Given the description of an element on the screen output the (x, y) to click on. 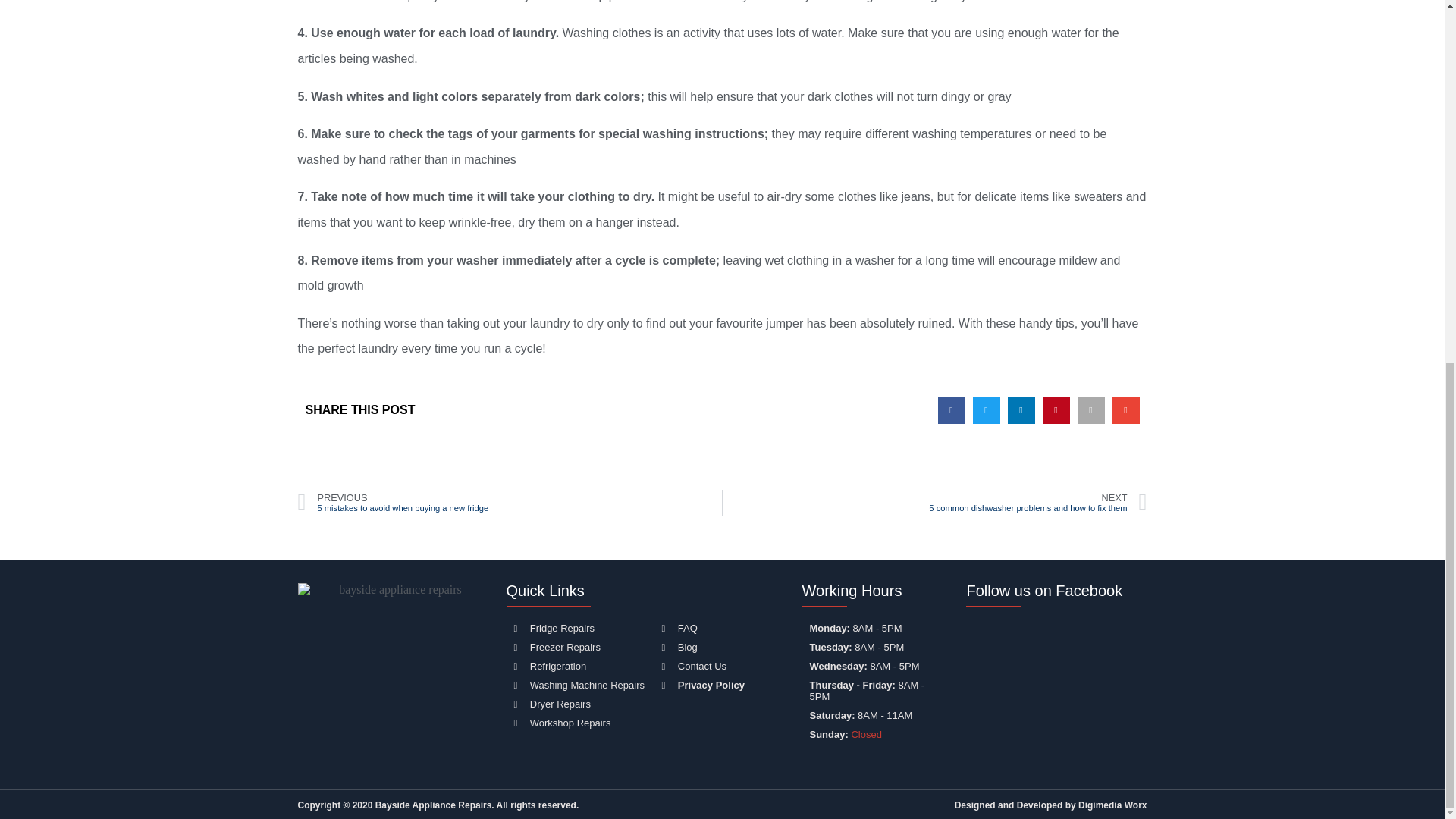
Workshop Repairs (579, 722)
Refrigeration (579, 665)
Blog (509, 502)
Fridge Repairs (720, 646)
Dryer Repairs (579, 627)
Freezer Repairs (579, 704)
Contact Us (579, 646)
Washing Machine Repairs (720, 665)
FAQ (934, 502)
